Given the description of an element on the screen output the (x, y) to click on. 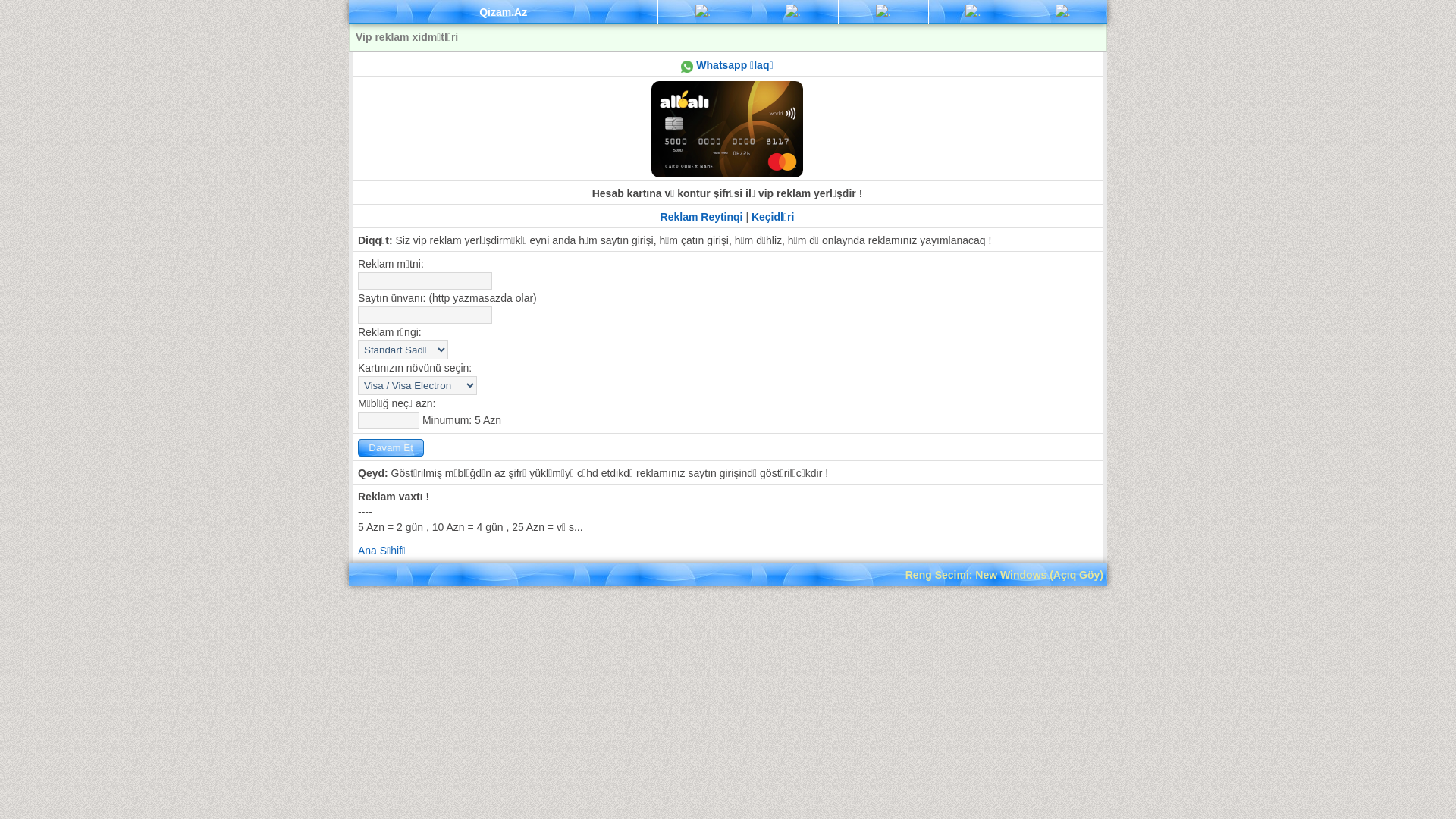
Davam Et Element type: text (390, 447)
Reklam Reytinqi Element type: text (701, 216)
Qeydiyyat Element type: hover (1062, 11)
Mesajlar Element type: hover (792, 11)
Bildirisler Element type: hover (883, 11)
Qonaqlar Element type: hover (972, 11)
